Given the description of an element on the screen output the (x, y) to click on. 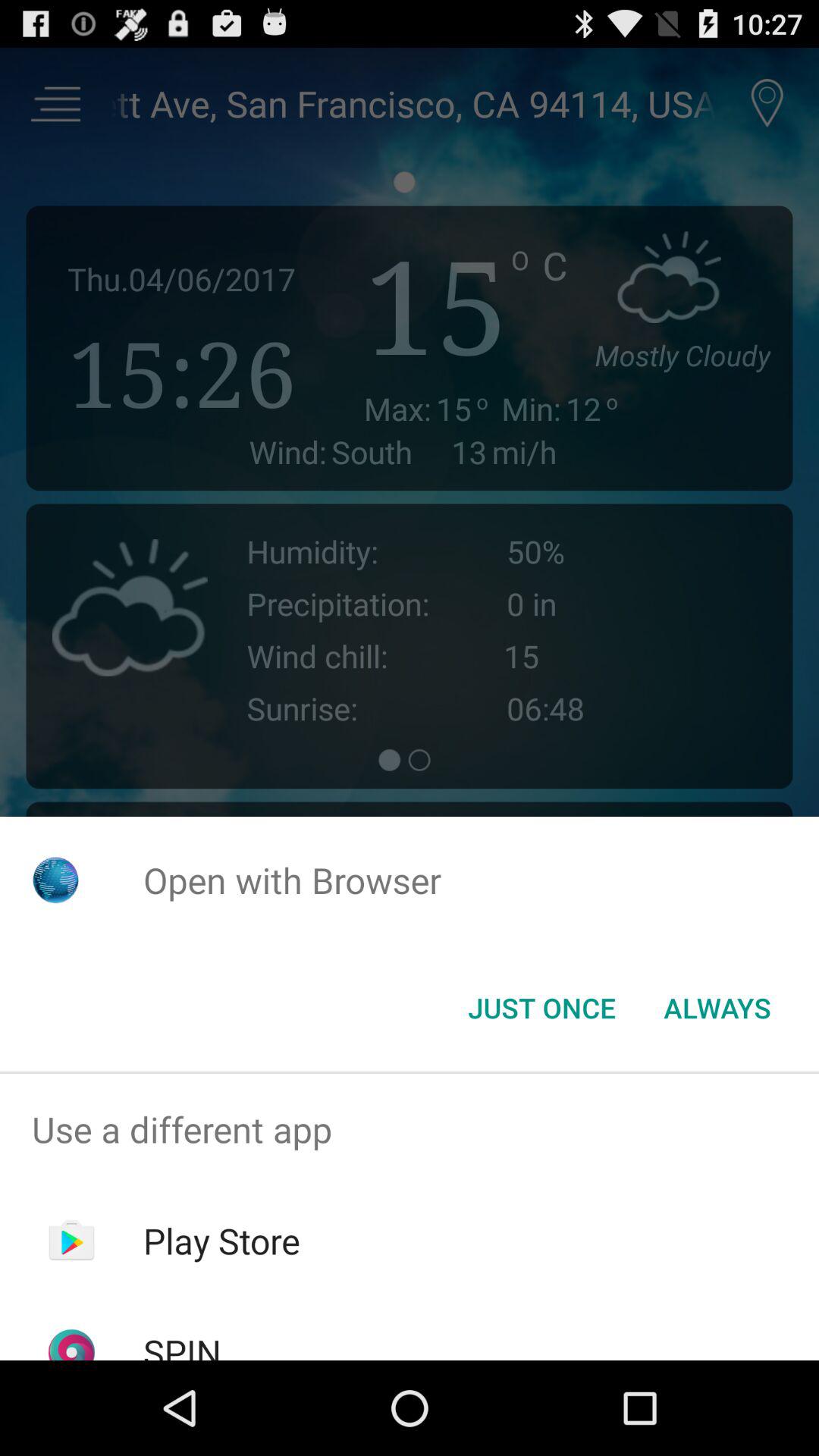
swipe to the just once item (541, 1007)
